Given the description of an element on the screen output the (x, y) to click on. 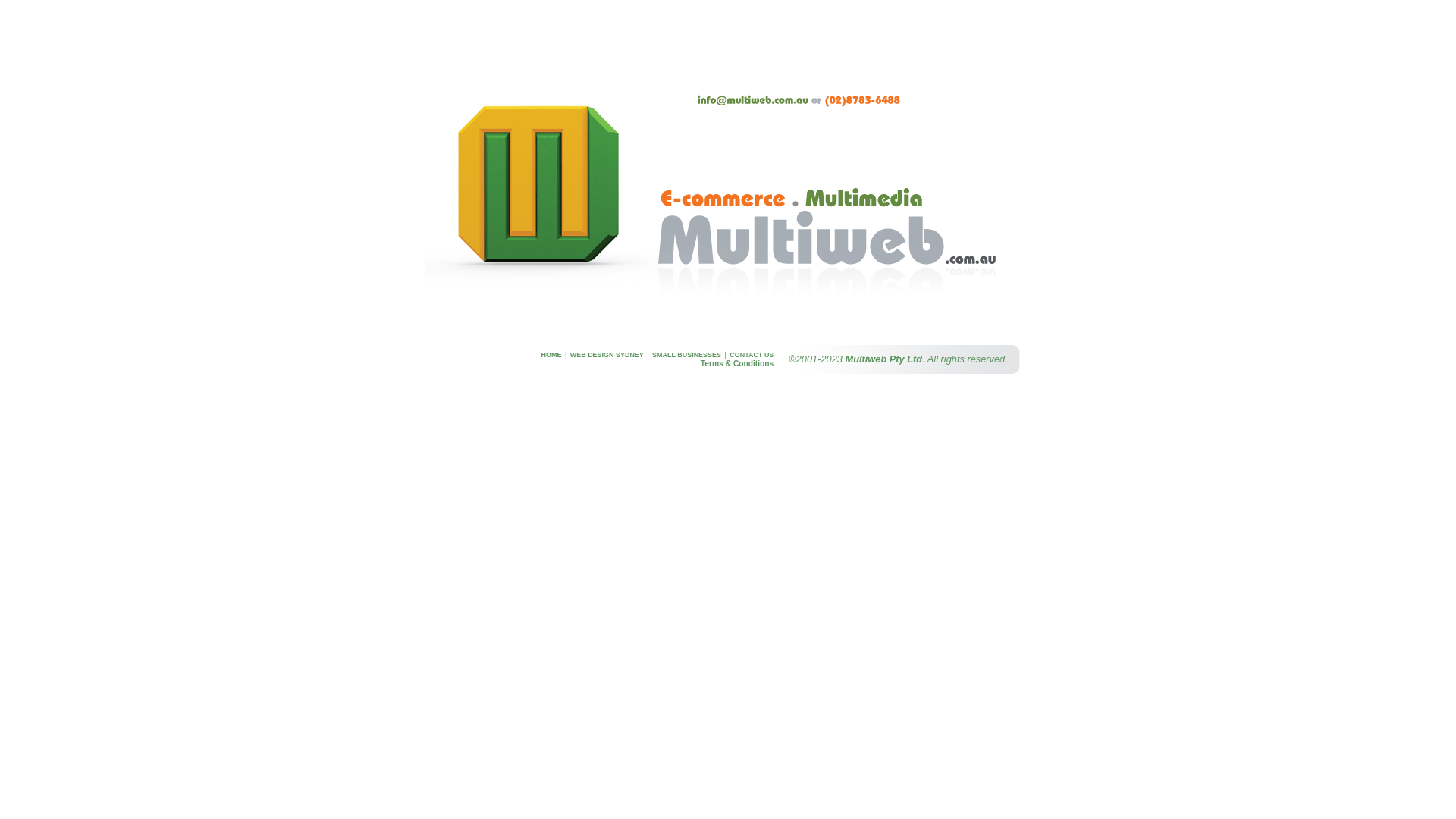
Multiweb Pty Ltd Element type: text (883, 358)
CONTACT US Element type: text (751, 354)
Sydney Web Design & Development Element type: hover (727, 316)
SMALL BUSINESSES Element type: text (686, 354)
HOME Element type: text (551, 354)
WEB DESIGN SYDNEY Element type: text (606, 354)
Terms & Conditions Element type: text (737, 363)
